Given the description of an element on the screen output the (x, y) to click on. 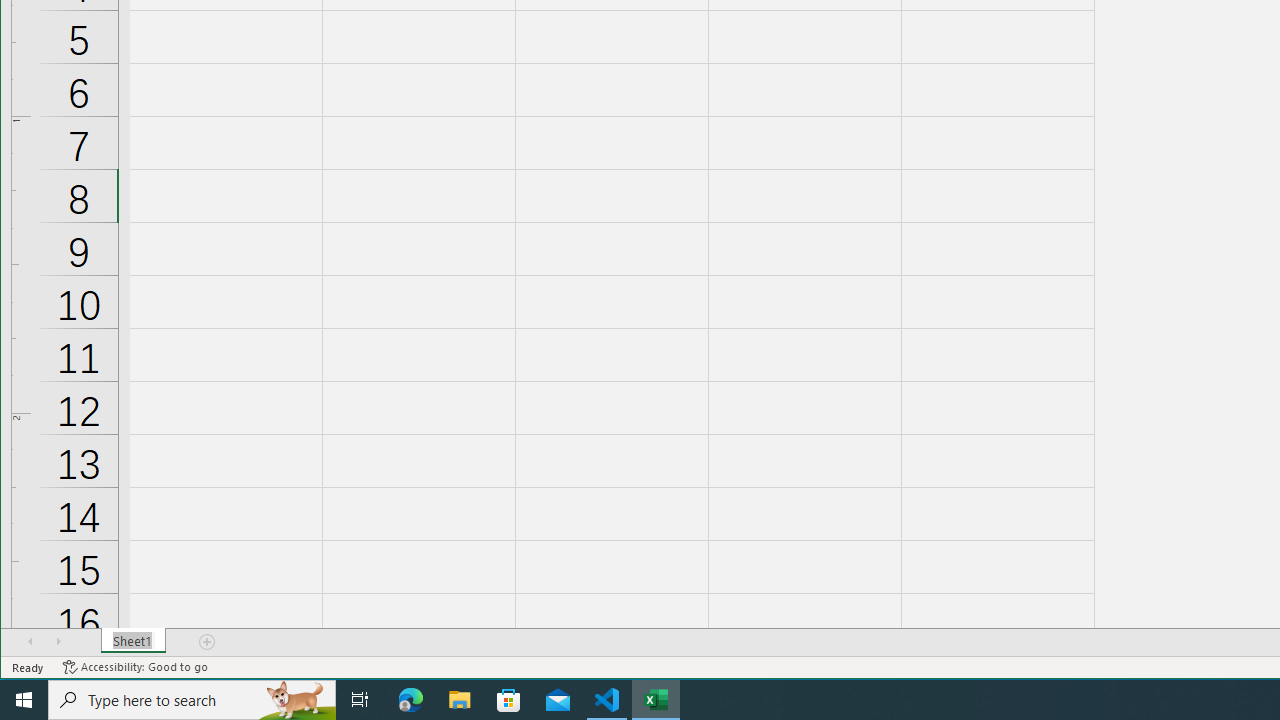
Excel - 1 running window (656, 699)
Search highlights icon opens search home window (295, 699)
Scroll Left (30, 641)
Sheet1 (133, 641)
Accessibility Checker Accessibility: Good to go (135, 667)
Scroll Right (58, 641)
Task View (359, 699)
Microsoft Store (509, 699)
Type here to search (191, 699)
Visual Studio Code - 1 running window (607, 699)
File Explorer (460, 699)
Sheet Tab (133, 641)
Microsoft Edge (411, 699)
Add Sheet (207, 641)
